Given the description of an element on the screen output the (x, y) to click on. 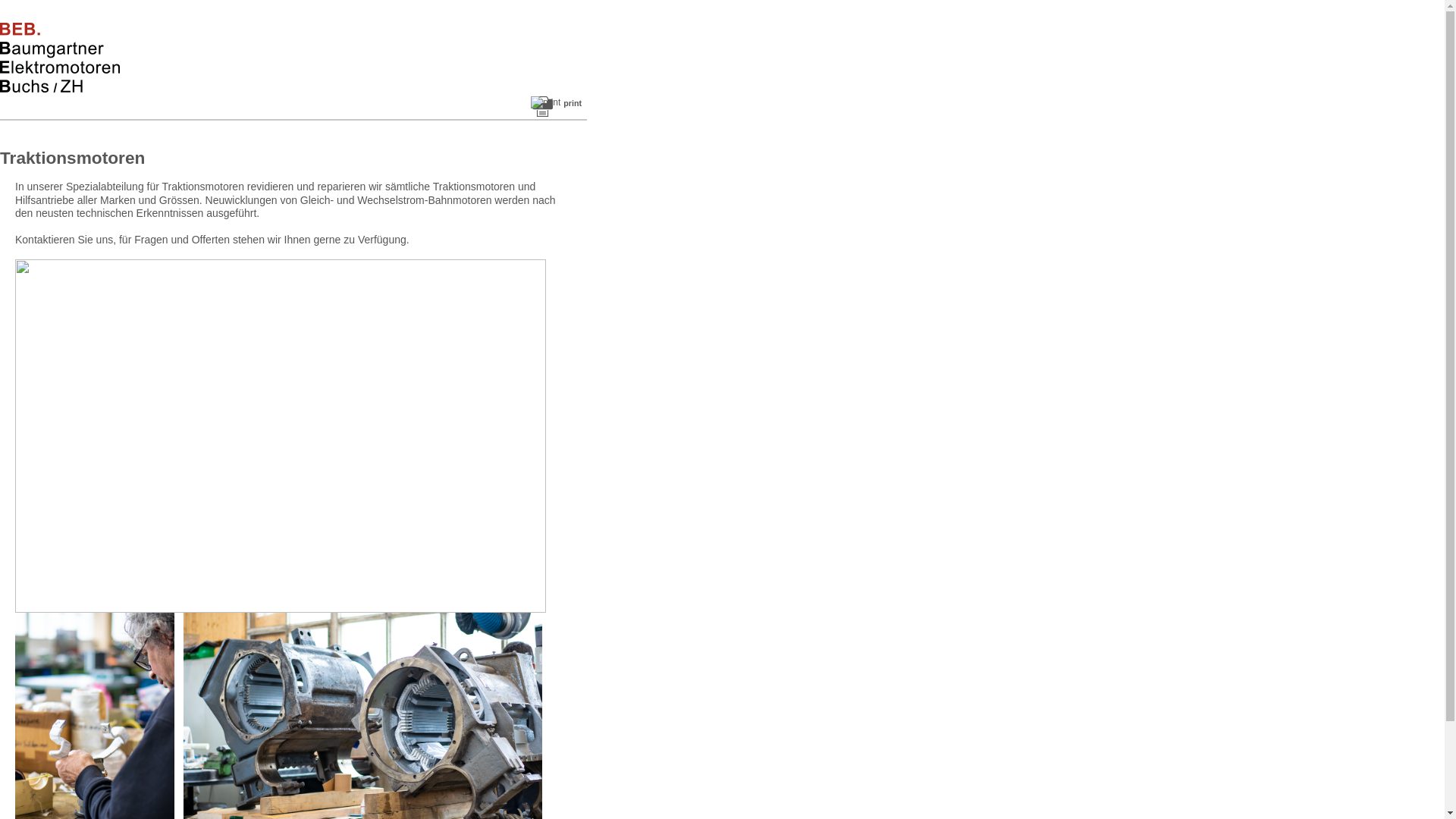
print Element type: text (555, 106)
